Given the description of an element on the screen output the (x, y) to click on. 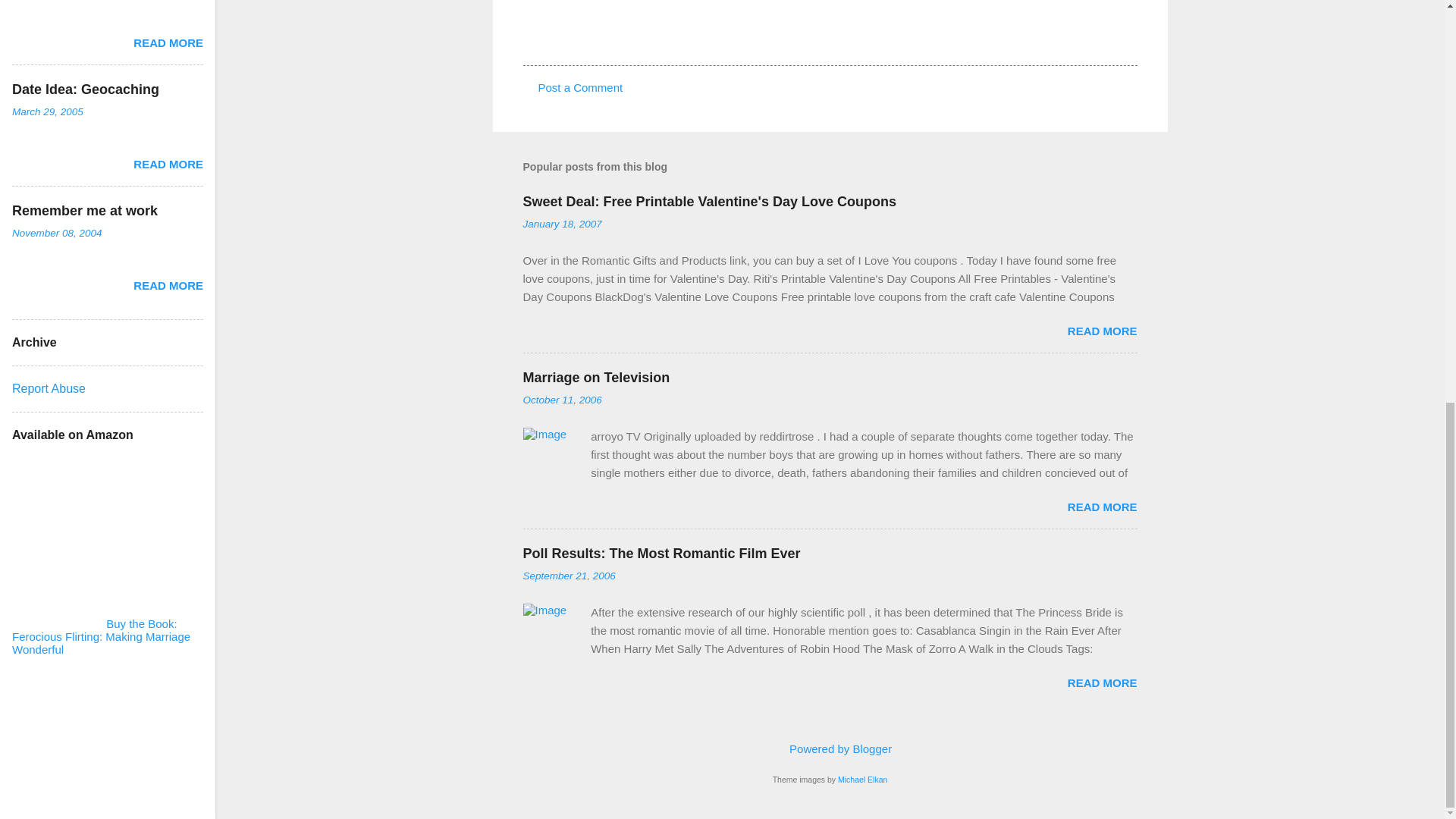
READ MORE (1102, 330)
Poll Results: The Most Romantic Film Ever (661, 553)
Powered by Blogger (829, 748)
October 11, 2006 (562, 399)
September 21, 2006 (568, 575)
January 18, 2007 (562, 224)
Marriage on Television (595, 377)
Email Post (562, 38)
Post a Comment (580, 87)
READ MORE (1102, 506)
Michael Elkan (862, 778)
Sweet Deal: Free Printable Valentine's Day Love Coupons (709, 201)
READ MORE (1102, 682)
